Given the description of an element on the screen output the (x, y) to click on. 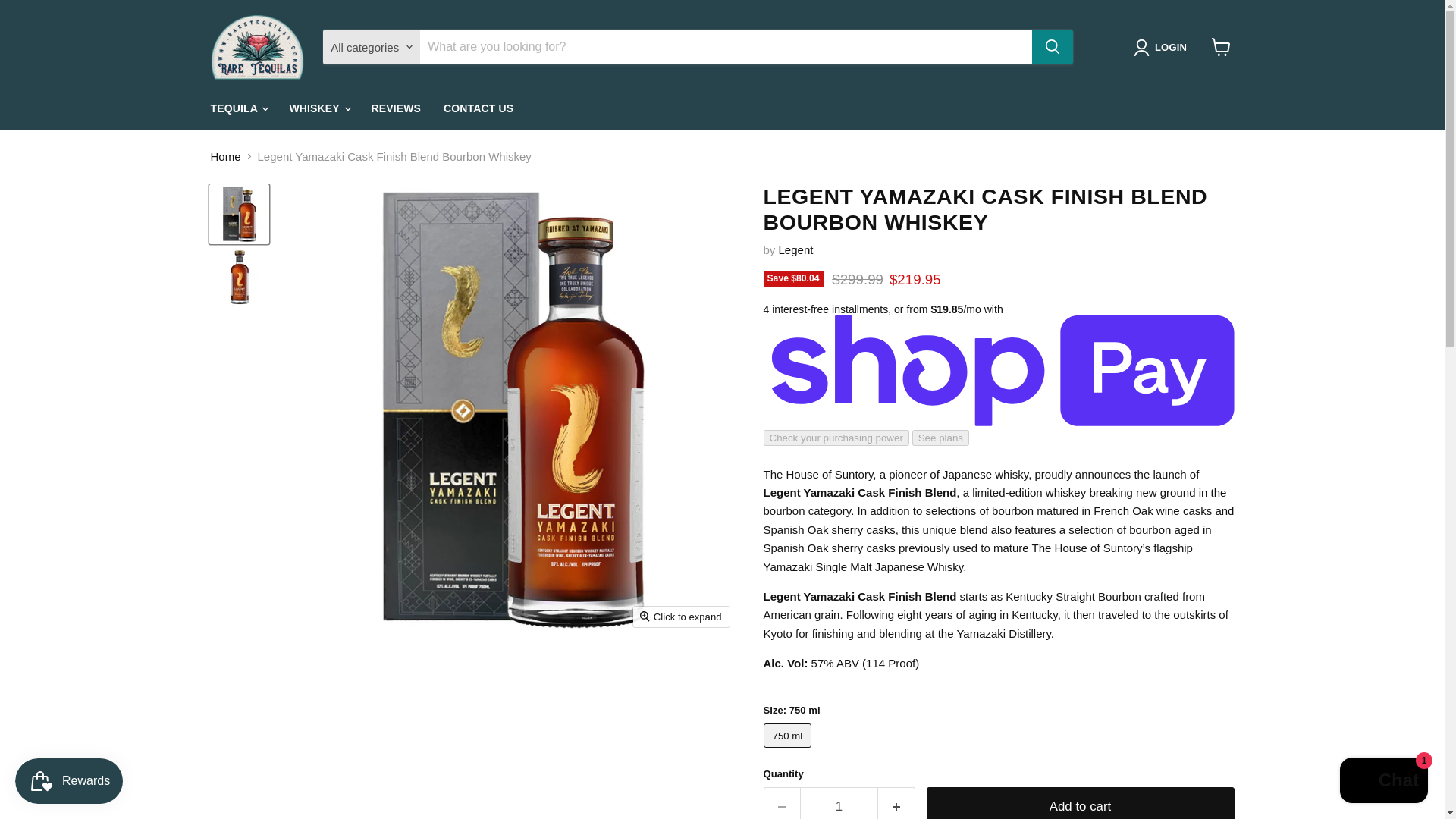
Smile.io Rewards Program Launcher (68, 780)
CONTACT US (478, 108)
REVIEWS (395, 108)
LOGIN (1163, 46)
Shopify online store chat (1383, 781)
1 (838, 803)
Legent (795, 249)
View cart (1221, 46)
